Given the description of an element on the screen output the (x, y) to click on. 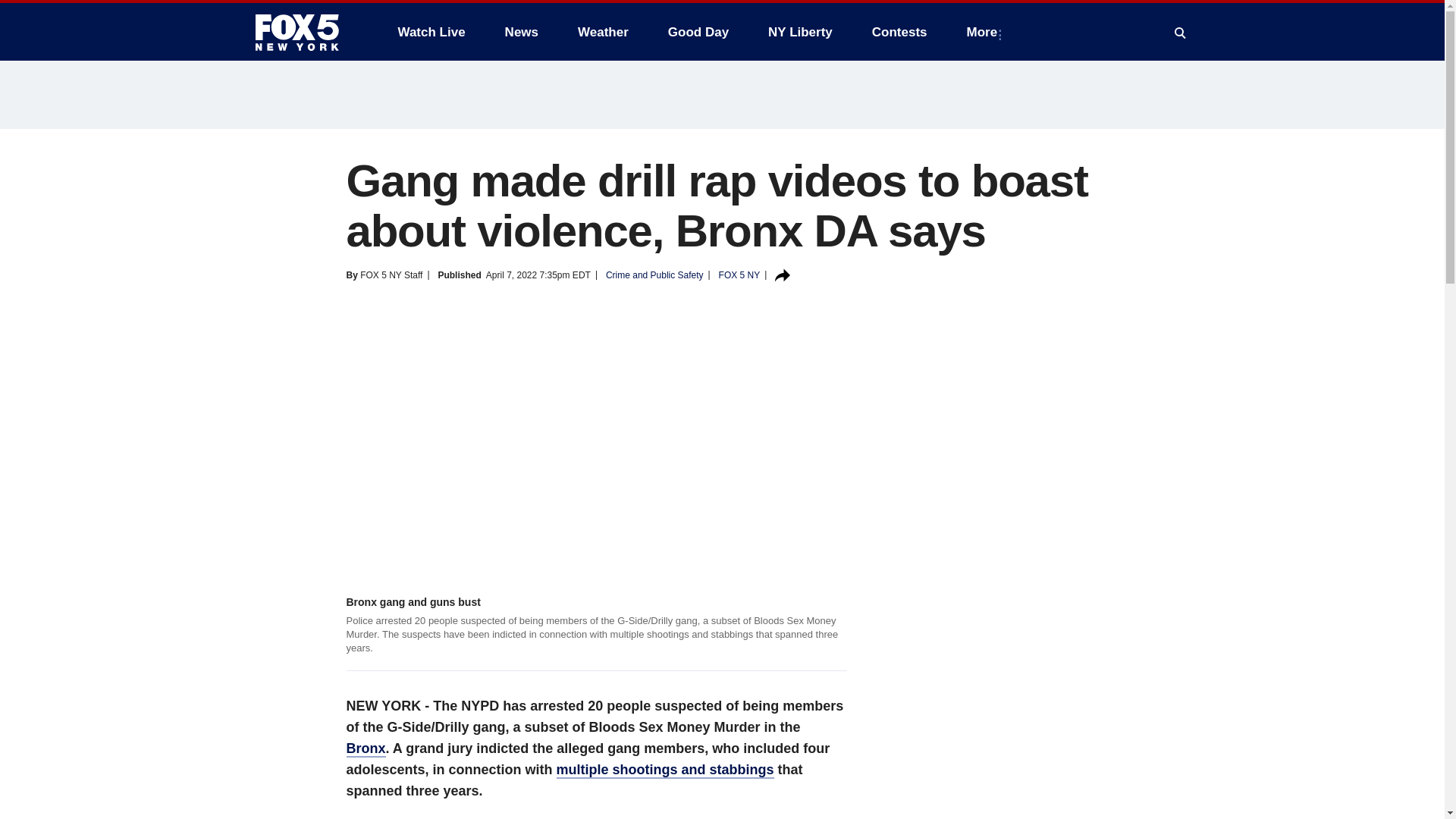
Good Day (698, 32)
News (521, 32)
More (985, 32)
Weather (603, 32)
Watch Live (431, 32)
Contests (899, 32)
NY Liberty (799, 32)
